Given the description of an element on the screen output the (x, y) to click on. 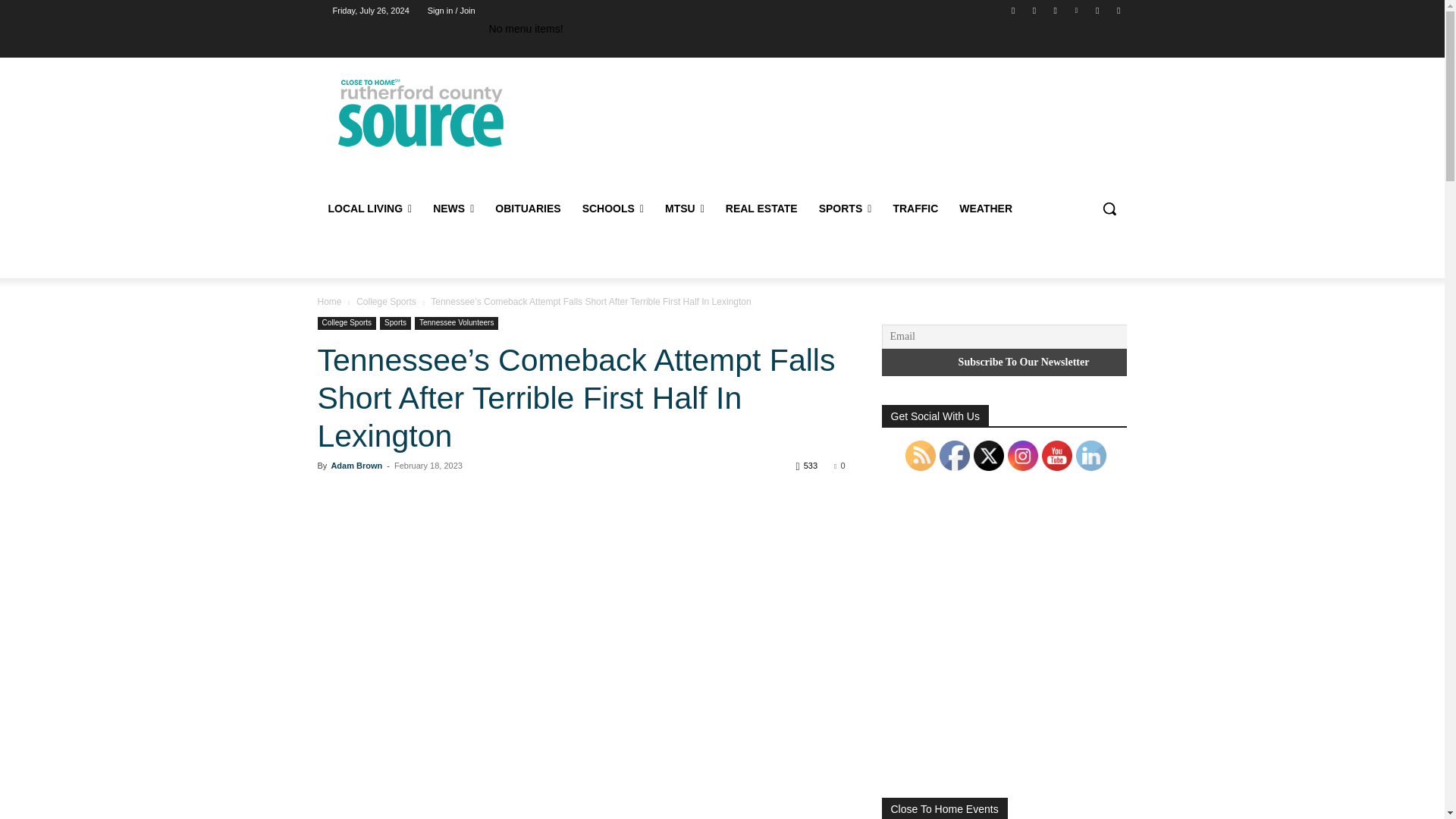
Instagram (1055, 9)
Facebook (1013, 9)
Youtube (1117, 9)
Twitter (1097, 9)
Flipboard (1034, 9)
Subscribe To Our Newsletter (1023, 361)
Linkedin (1075, 9)
